Given the description of an element on the screen output the (x, y) to click on. 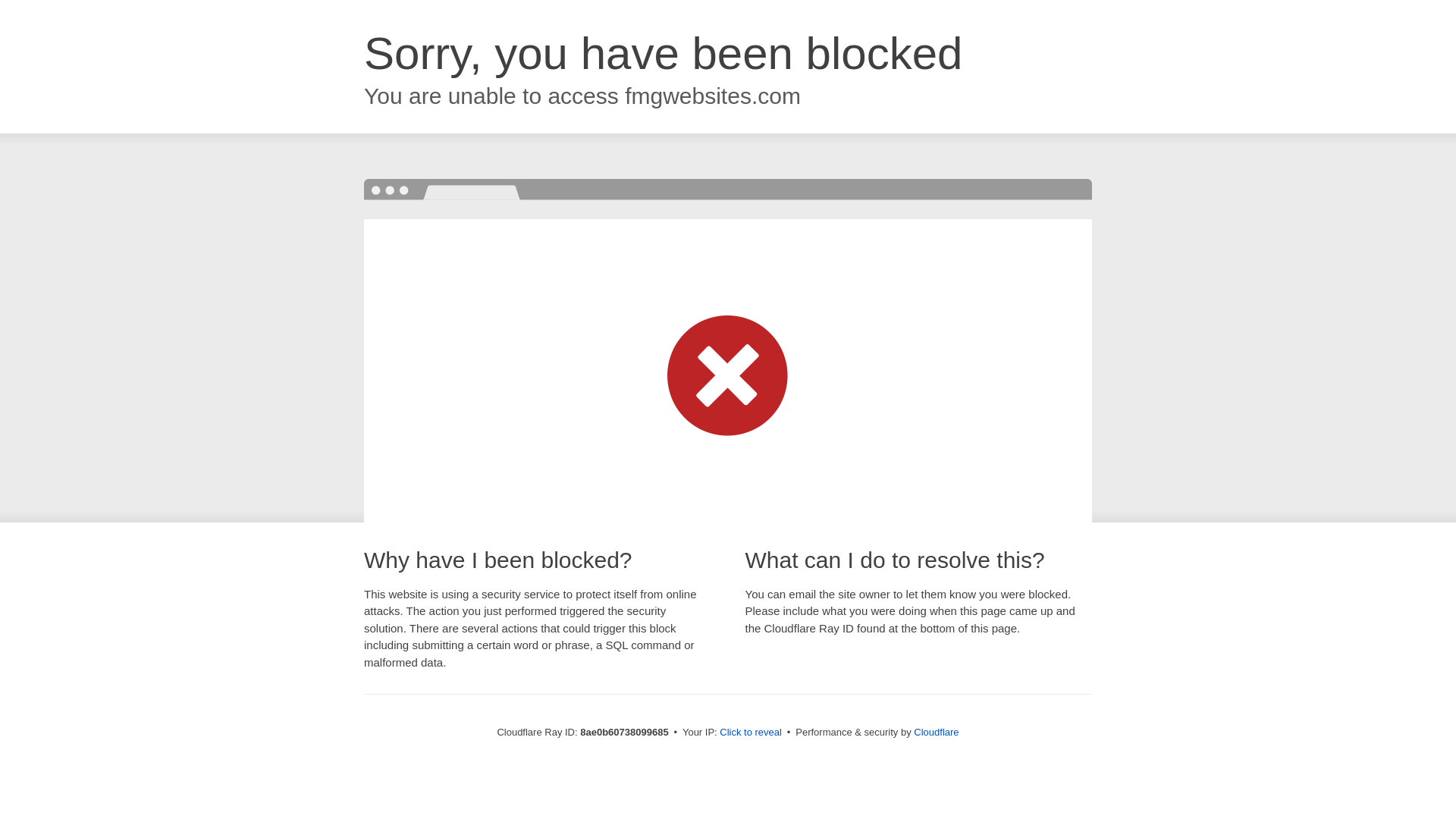
Click to reveal (750, 732)
Cloudflare (936, 731)
